Given the description of an element on the screen output the (x, y) to click on. 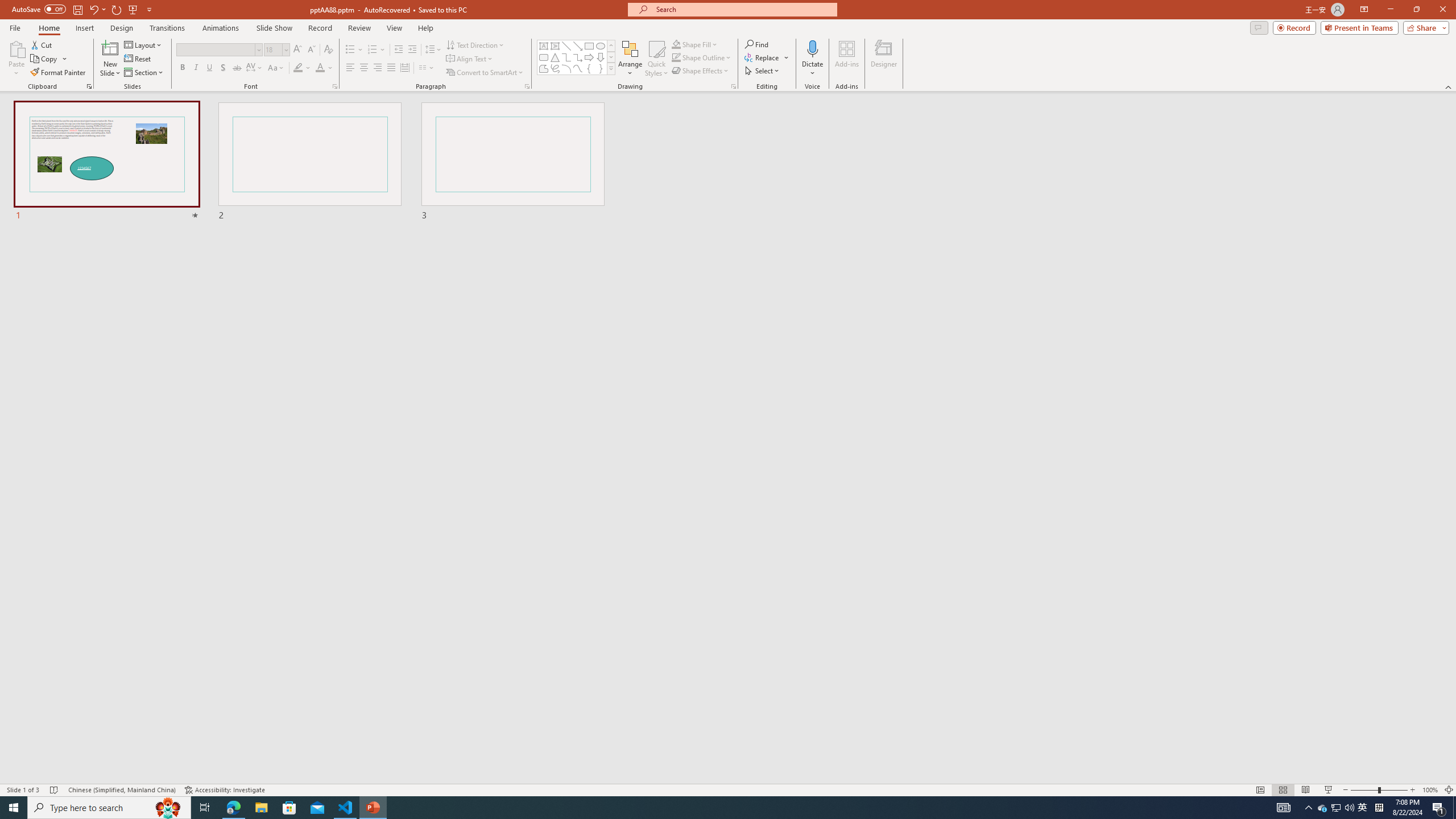
Font Size (276, 49)
Distributed (404, 67)
Microsoft search (742, 9)
Row Down (611, 56)
Strikethrough (237, 67)
Shape Outline (701, 56)
Center (363, 67)
Cut (42, 44)
Text Direction (476, 44)
